Given the description of an element on the screen output the (x, y) to click on. 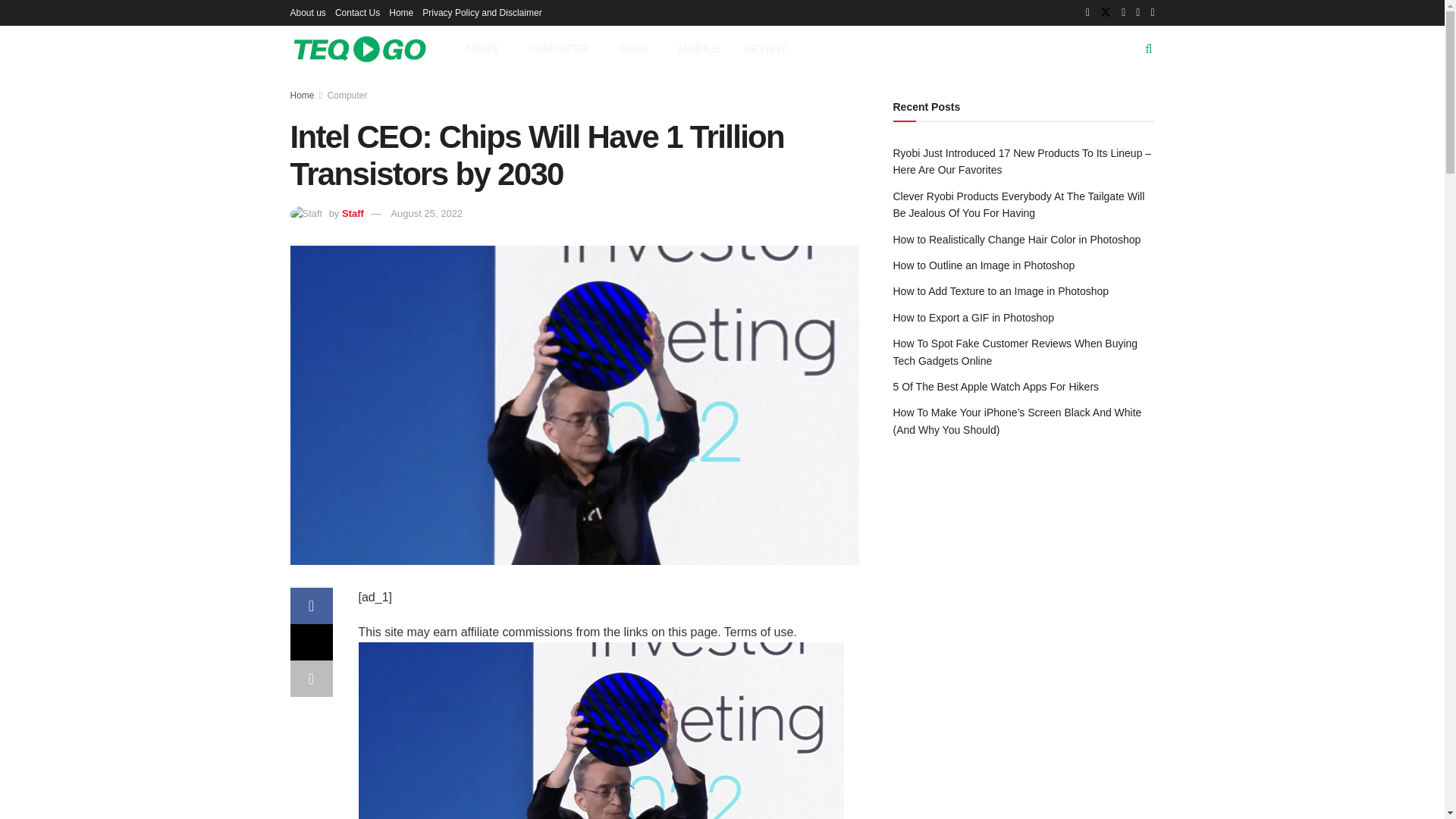
NEWS (483, 48)
About us (306, 12)
Privacy Policy and Disclaimer (481, 12)
Contact Us (357, 12)
GEAR (635, 48)
COMPUTER (560, 48)
Home (400, 12)
